Given the description of an element on the screen output the (x, y) to click on. 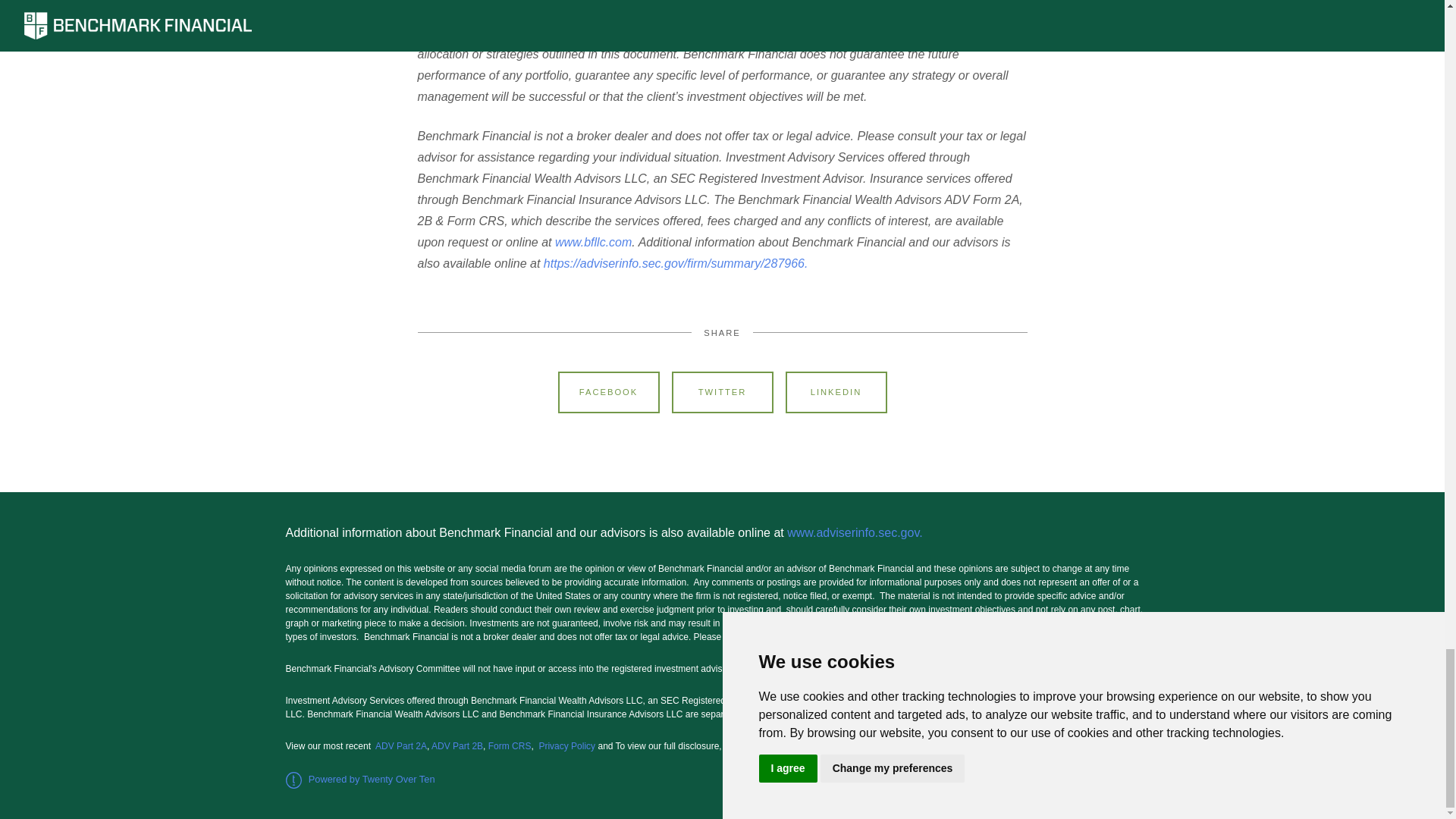
ADV Part 2B (456, 746)
Powered by Twenty Over Ten (359, 778)
TWITTER (722, 392)
HERE (785, 746)
LINKEDIN (836, 392)
www.bfllc.com (592, 241)
Form CRS (509, 746)
ADV Part 2A (400, 746)
Privacy Policy (566, 746)
FACEBOOK (608, 392)
www.adviserinfo.sec.gov.   (857, 532)
